Given the description of an element on the screen output the (x, y) to click on. 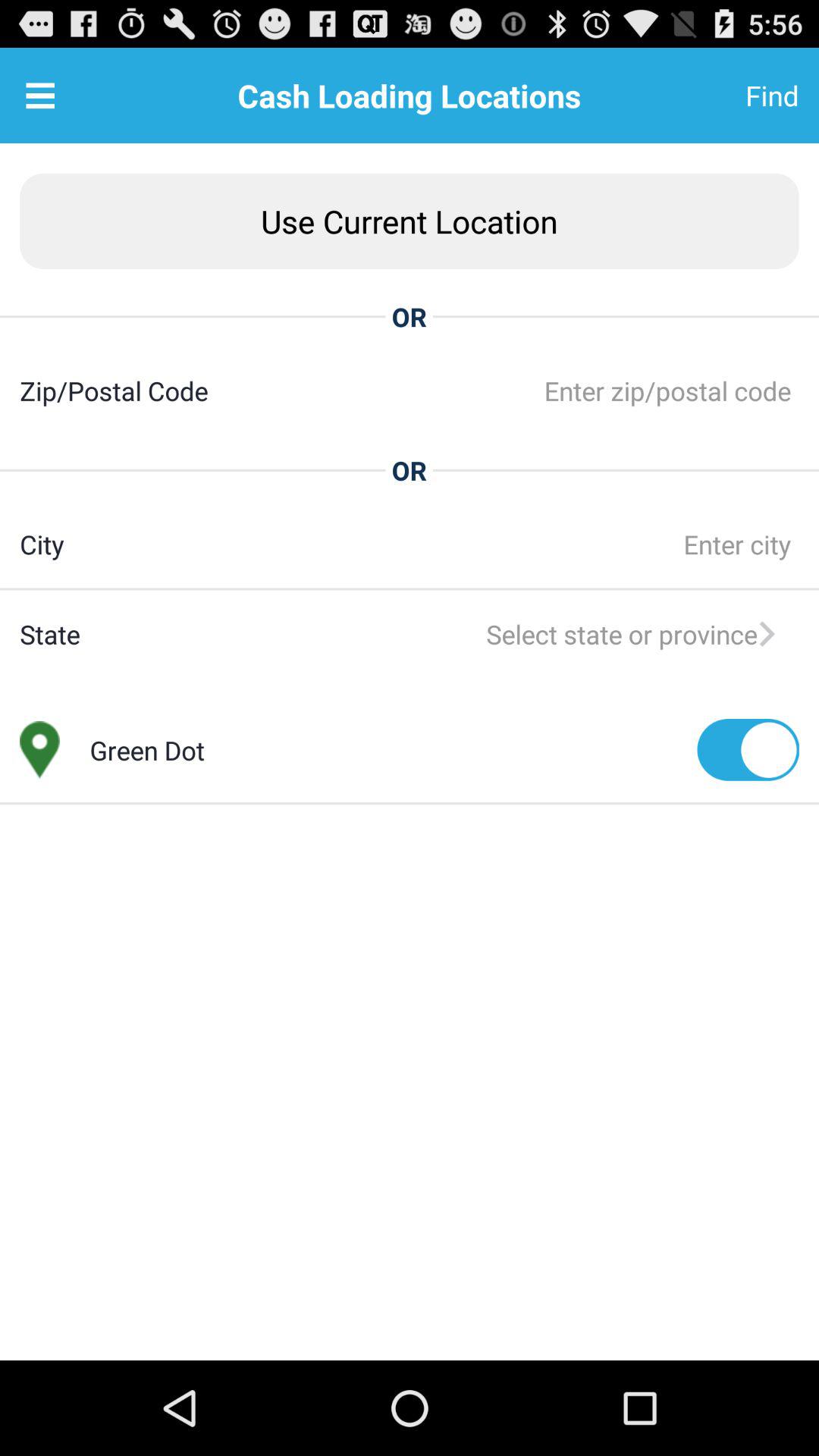
press item next to the state (439, 633)
